Given the description of an element on the screen output the (x, y) to click on. 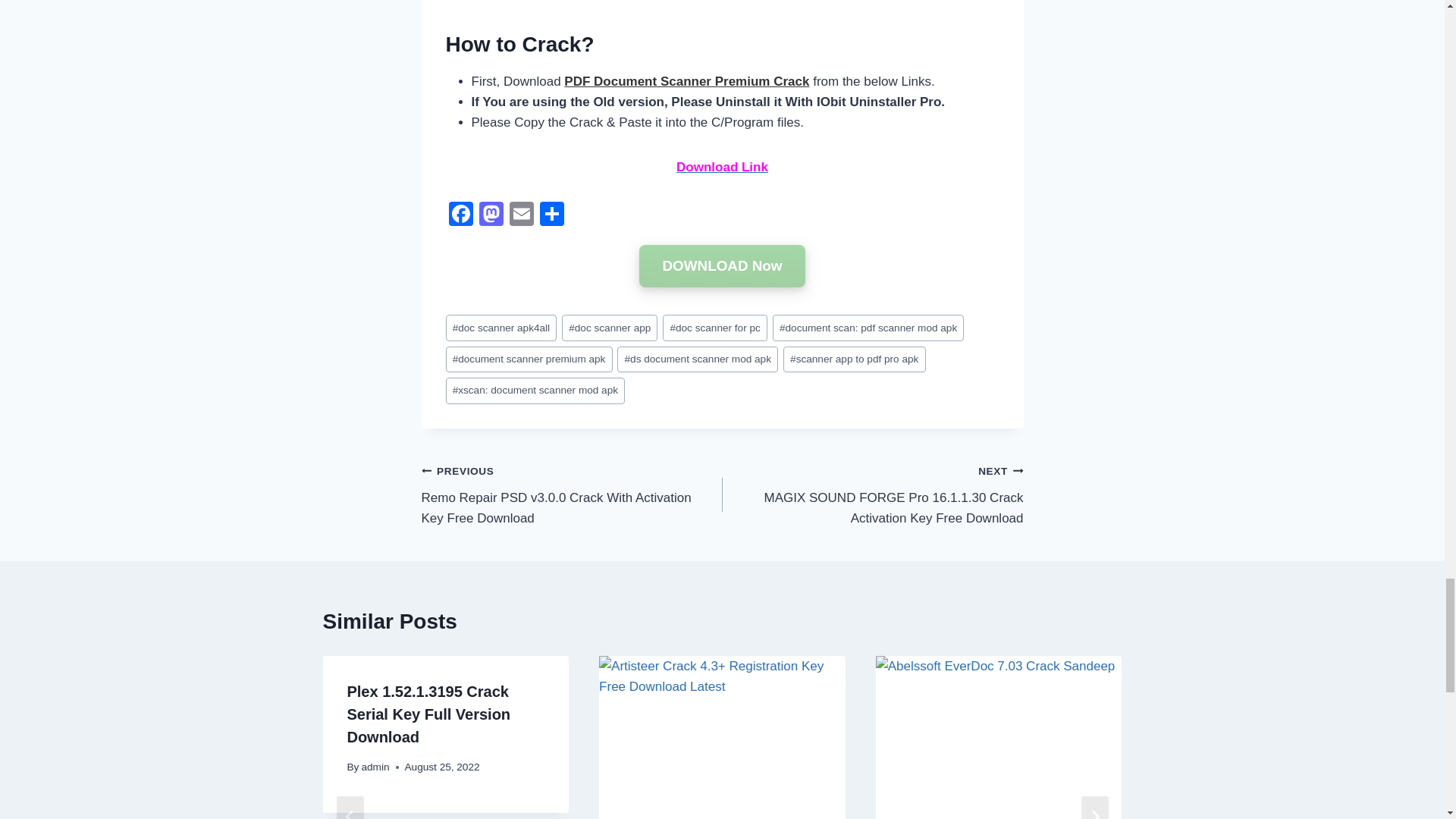
document scan: pdf scanner mod apk (868, 327)
doc scanner app (610, 327)
Mastodon (491, 215)
doc scanner apk4all (501, 327)
ds document scanner mod apk (697, 359)
scanner app to pdf pro apk (854, 359)
PDF Document Scanner Premium Crack (686, 81)
DOWNLOAD Now (722, 265)
Download Link (722, 166)
DOWNLOAD Now (721, 266)
